Given the description of an element on the screen output the (x, y) to click on. 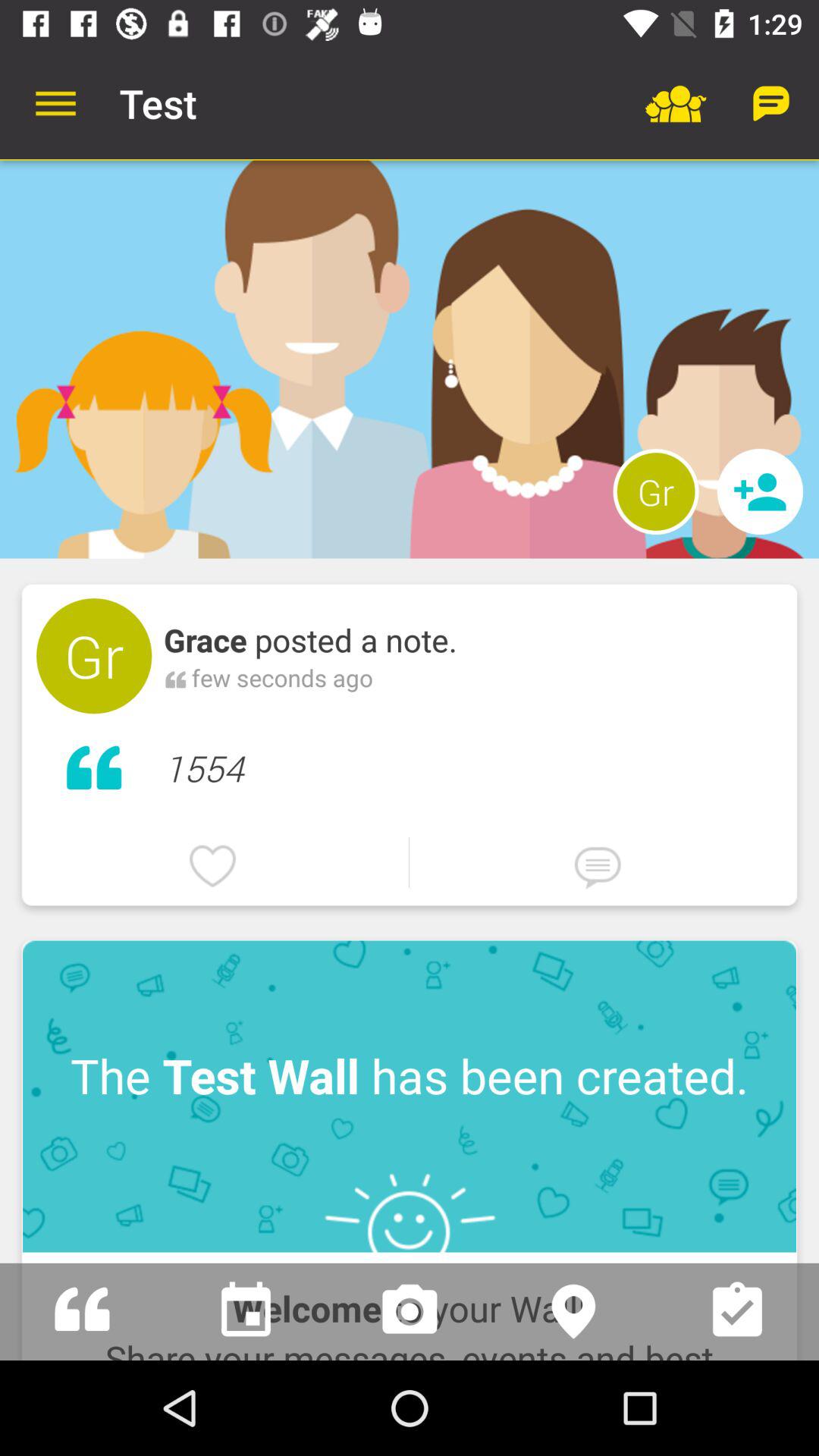
select icon above the welcome to your (409, 1096)
